Given the description of an element on the screen output the (x, y) to click on. 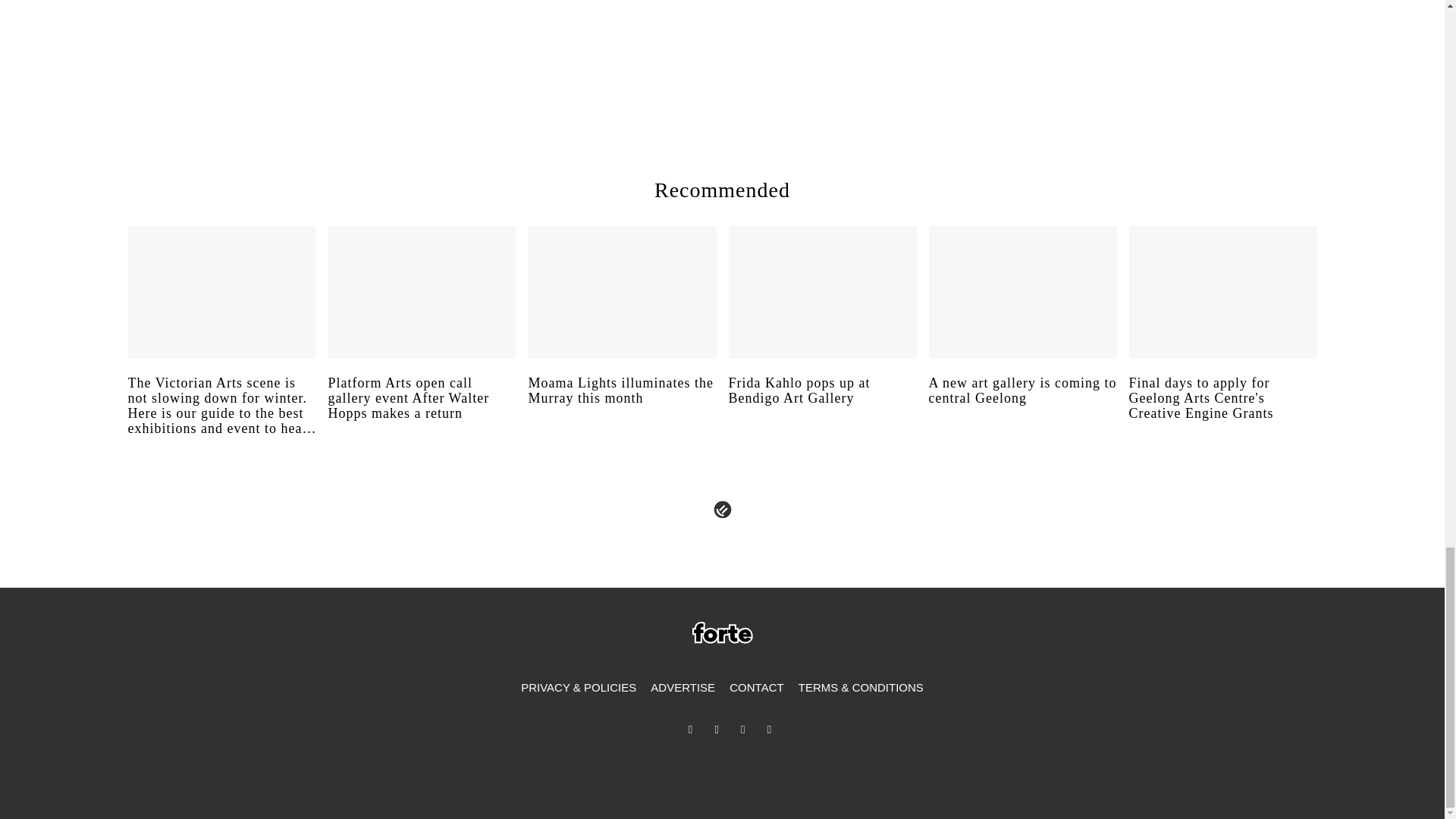
A new art gallery is coming to central Geelong (1022, 404)
Frida Kahlo pops up at Bendigo Art Gallery (821, 404)
Moama Lights illuminates the Murray this month (621, 404)
3rd party ad content (1082, 54)
